Given the description of an element on the screen output the (x, y) to click on. 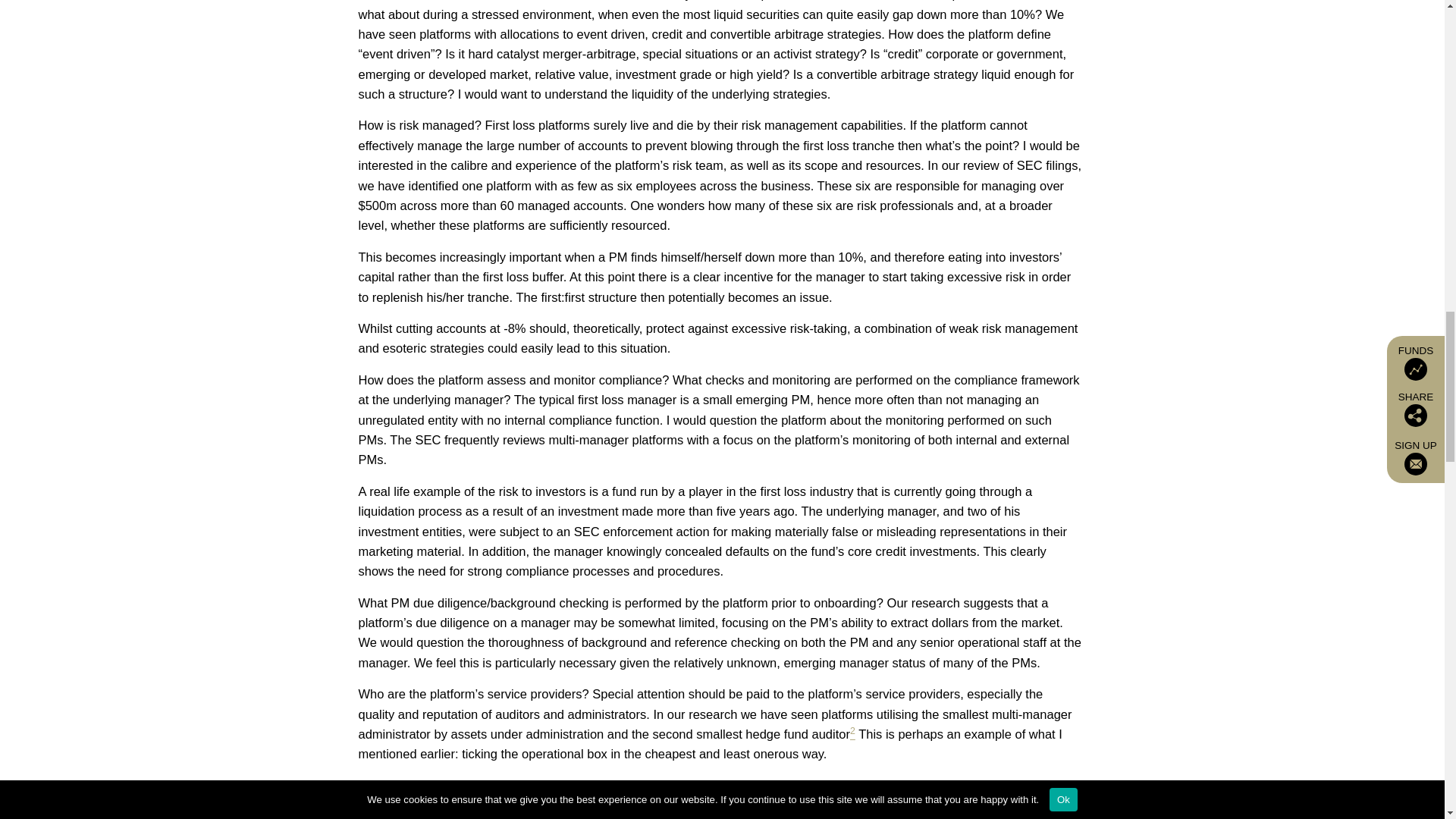
2 (853, 734)
